Given the description of an element on the screen output the (x, y) to click on. 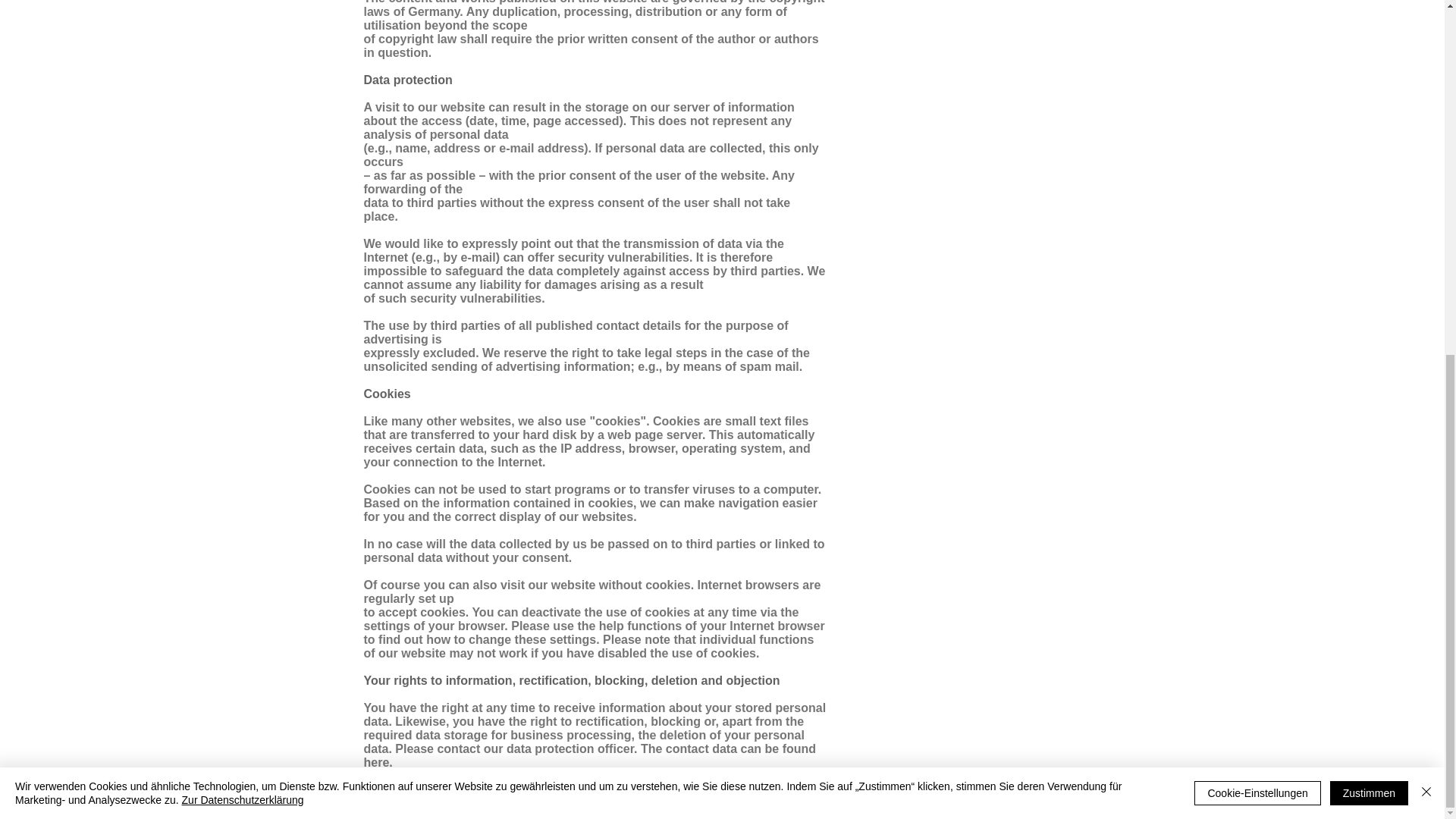
Cookie-Einstellungen (1256, 170)
here (377, 762)
Zustimmen (1368, 170)
